Given the description of an element on the screen output the (x, y) to click on. 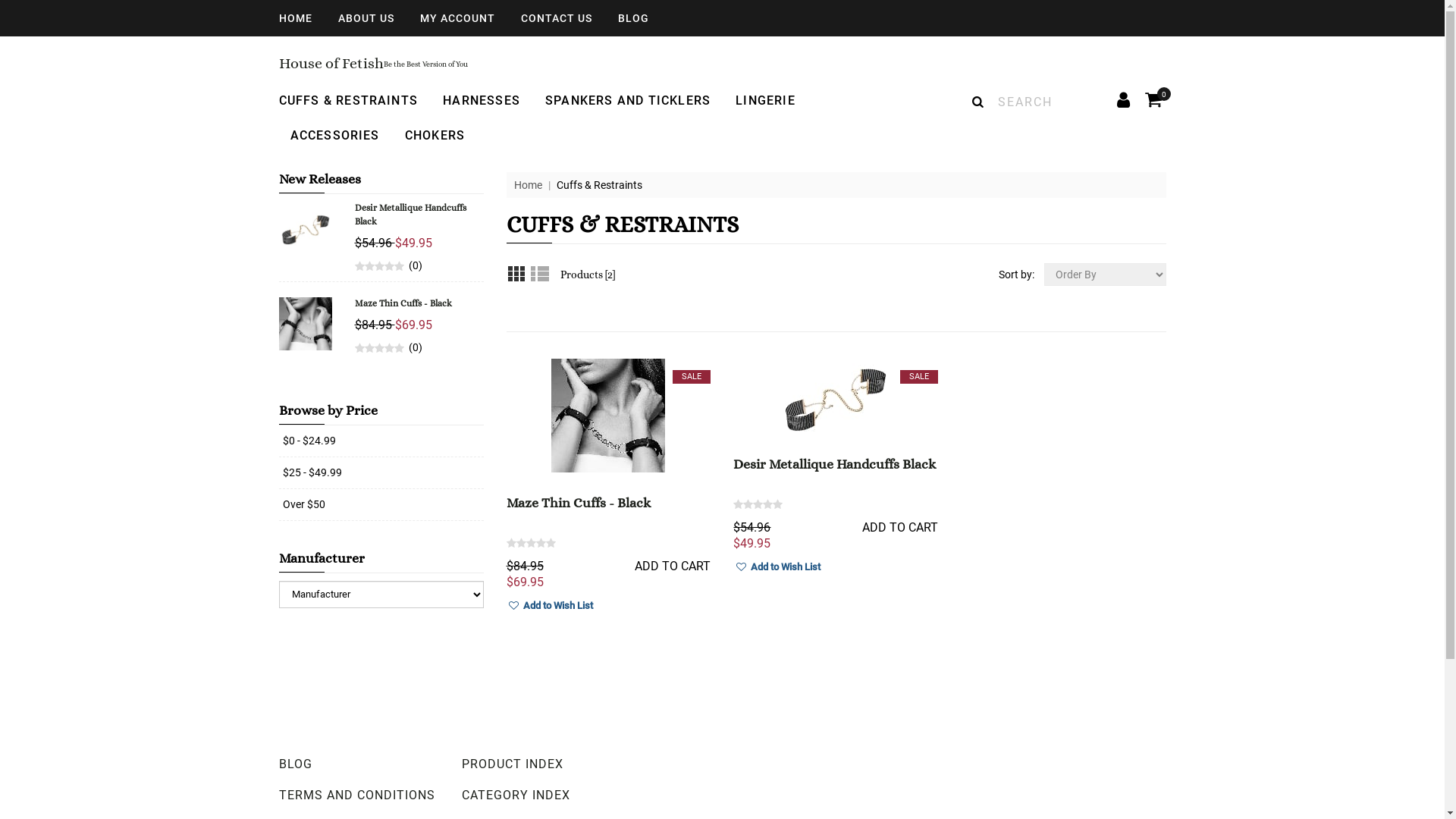
Maze Thin Cuffs - Black Element type: text (578, 502)
Desir Metallique Handcuffs Black Element type: text (410, 214)
$25 - $49.99 Element type: text (311, 472)
CONTACT US Element type: text (555, 18)
ACCESSORIES Element type: text (334, 135)
Over $50 Element type: text (303, 504)
TERMS AND CONDITIONS Element type: text (357, 795)
Cuffs & Restraints Element type: text (599, 184)
ABOUT US Element type: text (366, 18)
HOME Element type: text (295, 18)
MY ACCOUNT Element type: text (457, 18)
0 Element type: text (1153, 99)
Add to Wish List Element type: text (549, 606)
CHOKERS Element type: text (434, 135)
CATEGORY INDEX Element type: text (539, 795)
BLOG Element type: text (632, 18)
$0 - $24.99 Element type: text (308, 440)
HARNESSES Element type: text (481, 100)
Maze Thin Cuffs - Black Element type: text (402, 303)
Submit Element type: text (505, 357)
LINGERIE Element type: text (765, 100)
ADD TO CART Element type: text (672, 566)
Desir Metallique Handcuffs Black Element type: text (834, 463)
Home Element type: text (528, 184)
ADD TO CART Element type: text (900, 527)
GRID VIEW Element type: text (518, 272)
PRODUCT INDEX Element type: text (539, 764)
CUFFS & RESTRAINTS Element type: text (348, 100)
LIST VIEW Element type: text (537, 272)
Submit Element type: text (277, 607)
SPANKERS AND TICKLERS Element type: text (627, 100)
Add to Wish List Element type: text (776, 567)
BLOG Element type: text (357, 764)
House of Fetish
Be the Best Version of You Element type: text (373, 61)
